Given the description of an element on the screen output the (x, y) to click on. 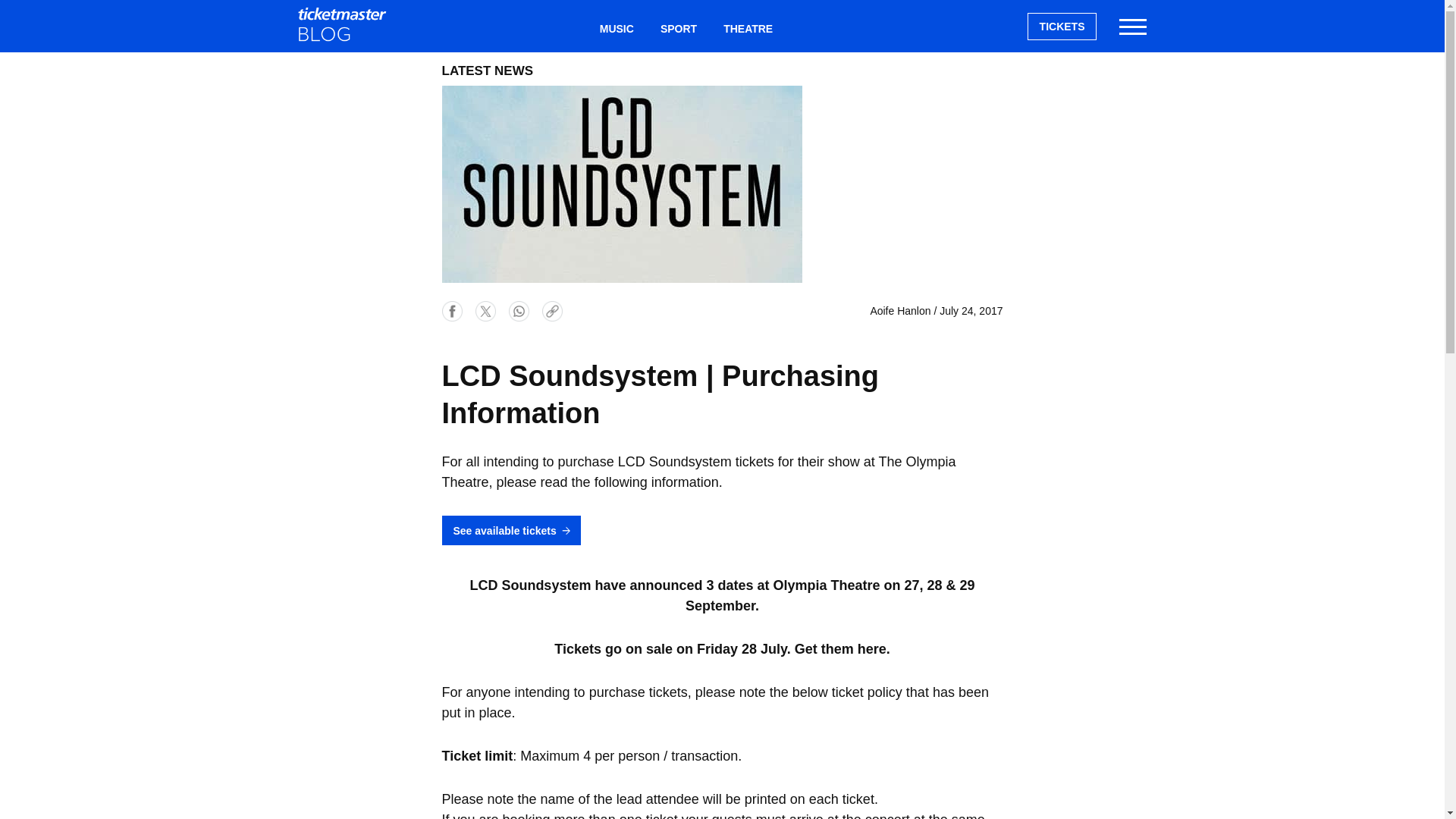
THEATRE (747, 28)
Aoife Hanlon (899, 310)
See available tickets (510, 530)
SPORT (678, 28)
TICKETS (1062, 26)
MUSIC (616, 28)
